Given the description of an element on the screen output the (x, y) to click on. 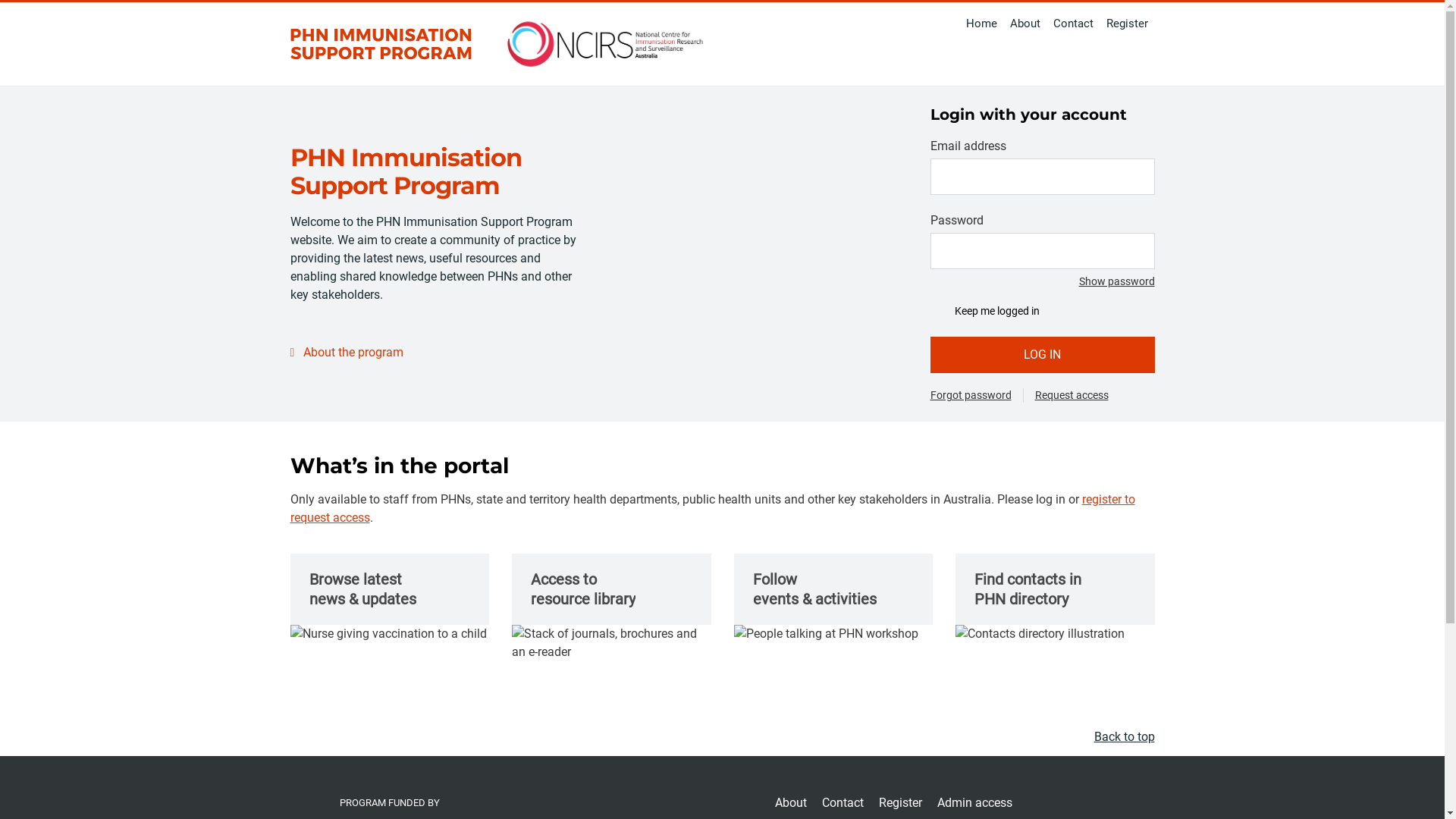
Show password Element type: text (1116, 280)
About Element type: text (790, 802)
Forgot password Element type: text (969, 395)
Access to
resource library Element type: text (611, 607)
 About the program Element type: text (345, 352)
About Element type: text (1025, 23)
Register Element type: text (900, 802)
register to request access Element type: text (711, 508)
Request access Element type: text (1070, 395)
Register Element type: text (1126, 23)
Contact Element type: text (1072, 23)
Contact Element type: text (842, 802)
Home Element type: text (982, 23)
Admin access Element type: text (974, 802)
Browse latest
news & updates Element type: text (389, 598)
LOG IN Element type: text (1041, 354)
Back to top Element type: text (1123, 737)
Find contacts in
PHN directory Element type: text (1054, 598)
Follow
events & activities Element type: text (833, 598)
